Given the description of an element on the screen output the (x, y) to click on. 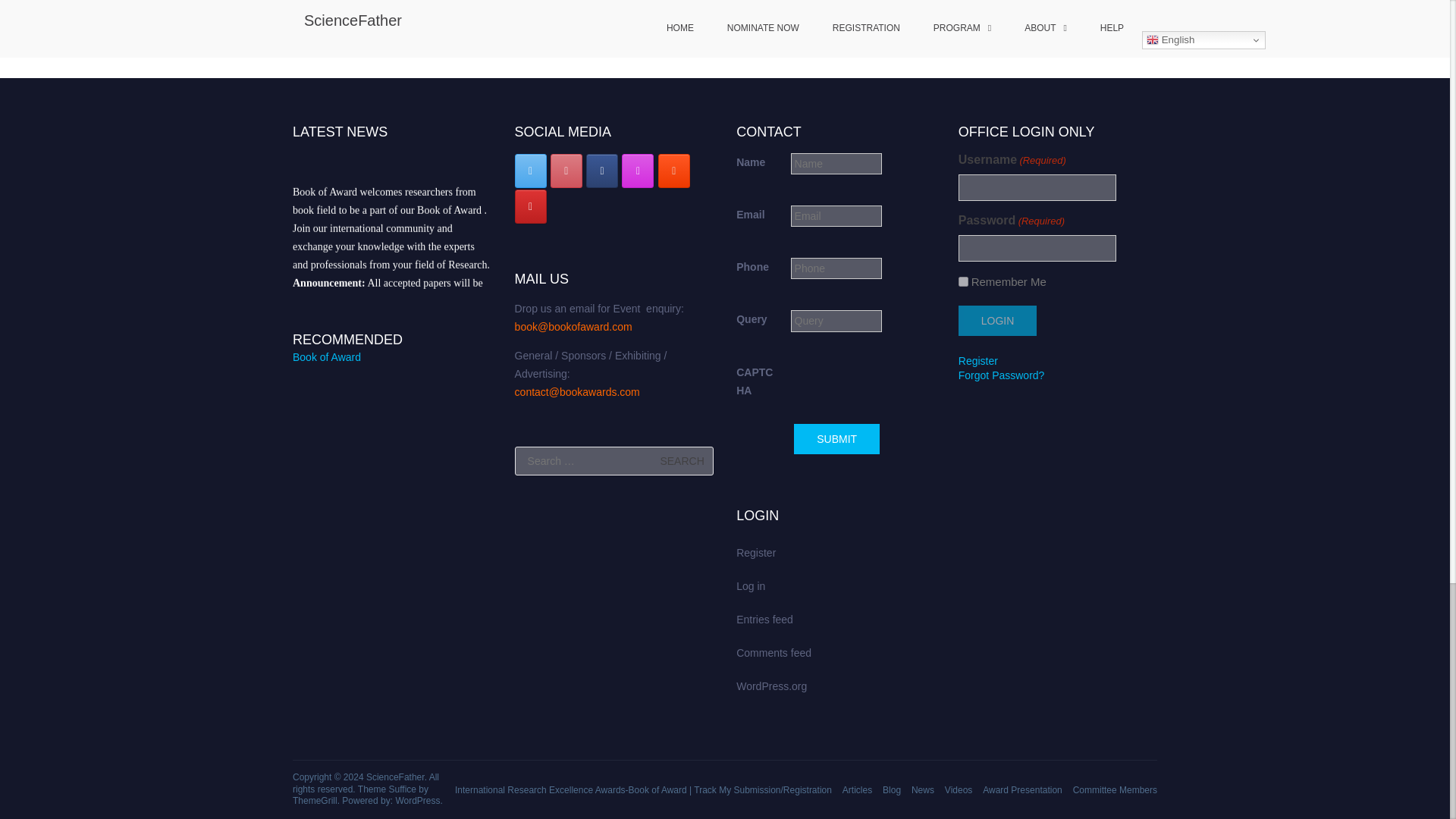
Login (997, 320)
ScienceFather on X Twitter (531, 170)
1 (963, 281)
Search (681, 460)
Submit (836, 439)
Search (681, 460)
